Given the description of an element on the screen output the (x, y) to click on. 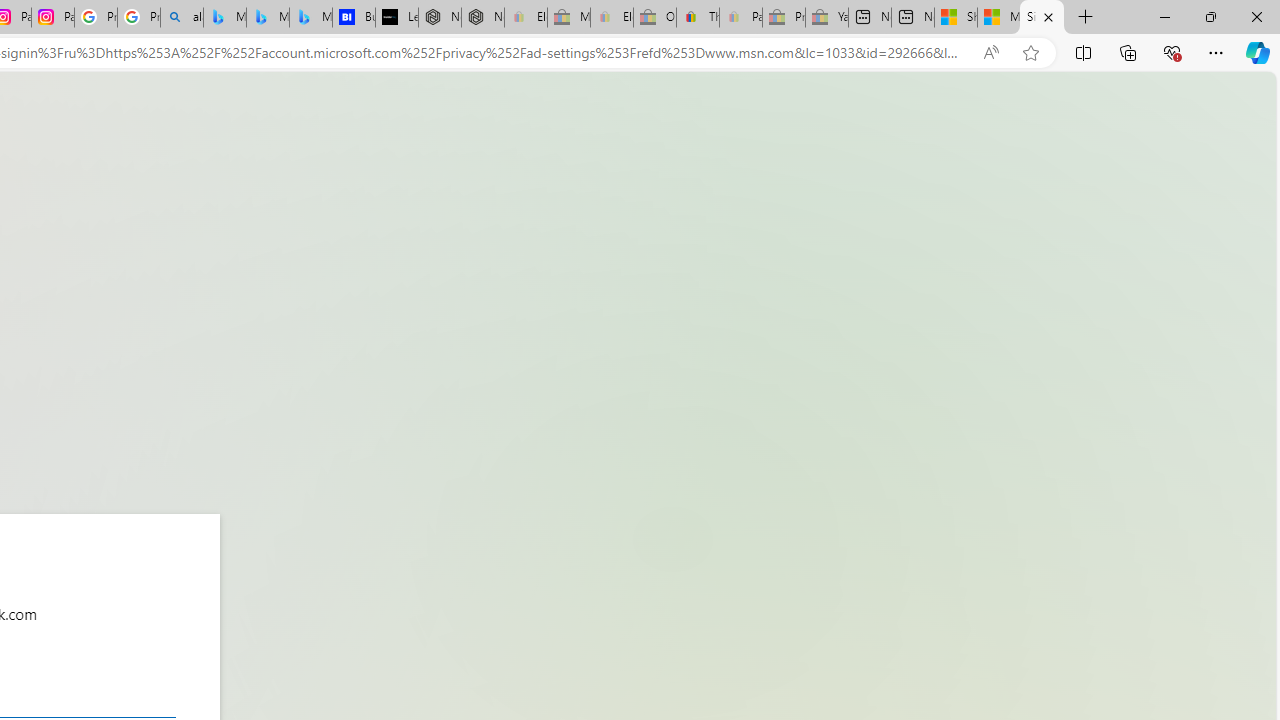
Threats and offensive language policy | eBay (698, 17)
Payments Terms of Use | eBay.com - Sleeping (740, 17)
alabama high school quarterback dies - Search (182, 17)
Shanghai, China hourly forecast | Microsoft Weather (955, 17)
